Given the description of an element on the screen output the (x, y) to click on. 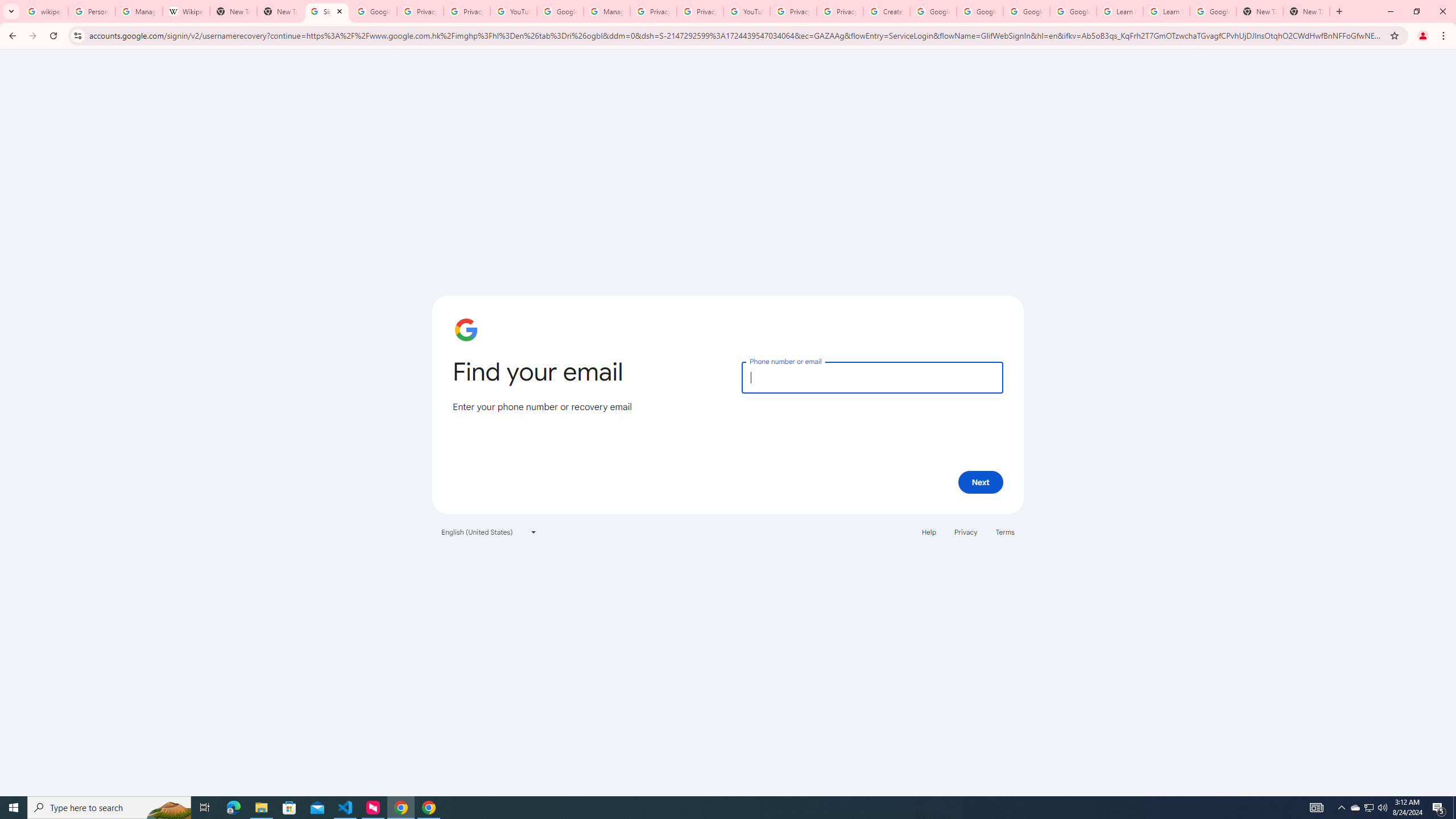
Google Account Help (980, 11)
YouTube (745, 11)
Google Account Help (559, 11)
